Given the description of an element on the screen output the (x, y) to click on. 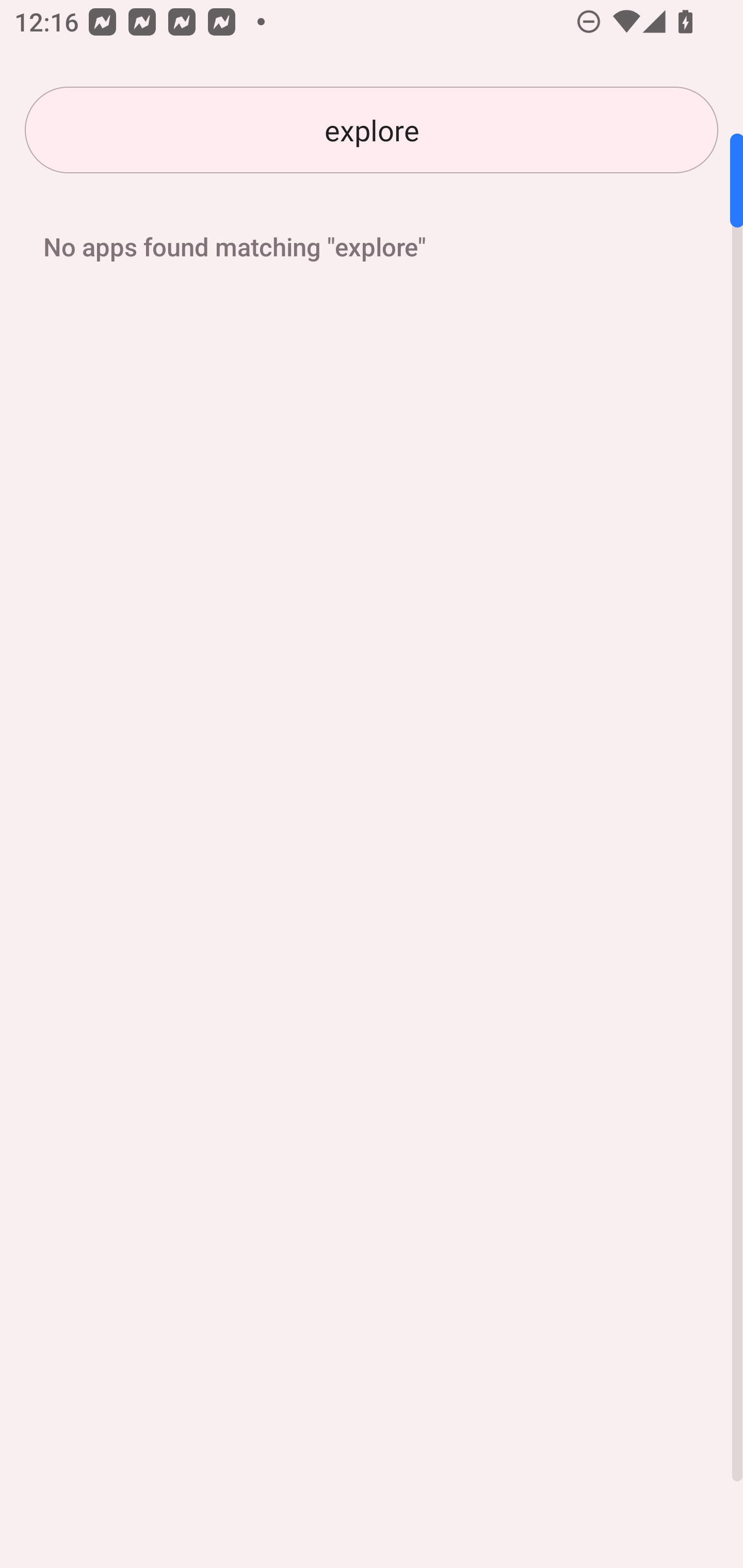
explore (371, 130)
